Given the description of an element on the screen output the (x, y) to click on. 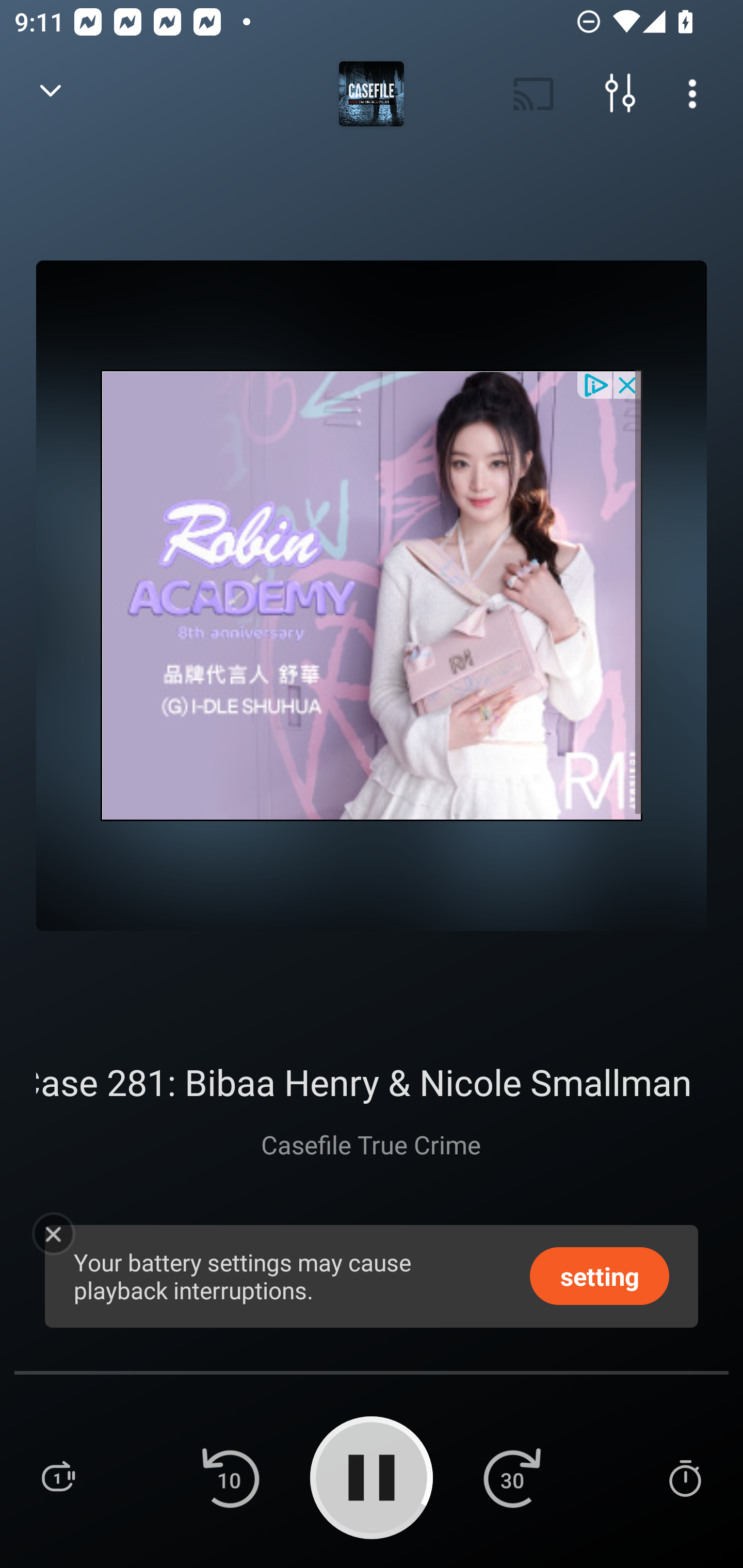
Cast. Disconnected (533, 93)
 Back (50, 94)
328: Case 281: Bibaa Henry & Nicole Smallman (371, 1081)
Casefile True Crime (371, 1144)
setting (599, 1275)
 Playlist (57, 1477)
Sleep Timer  (684, 1477)
